Given the description of an element on the screen output the (x, y) to click on. 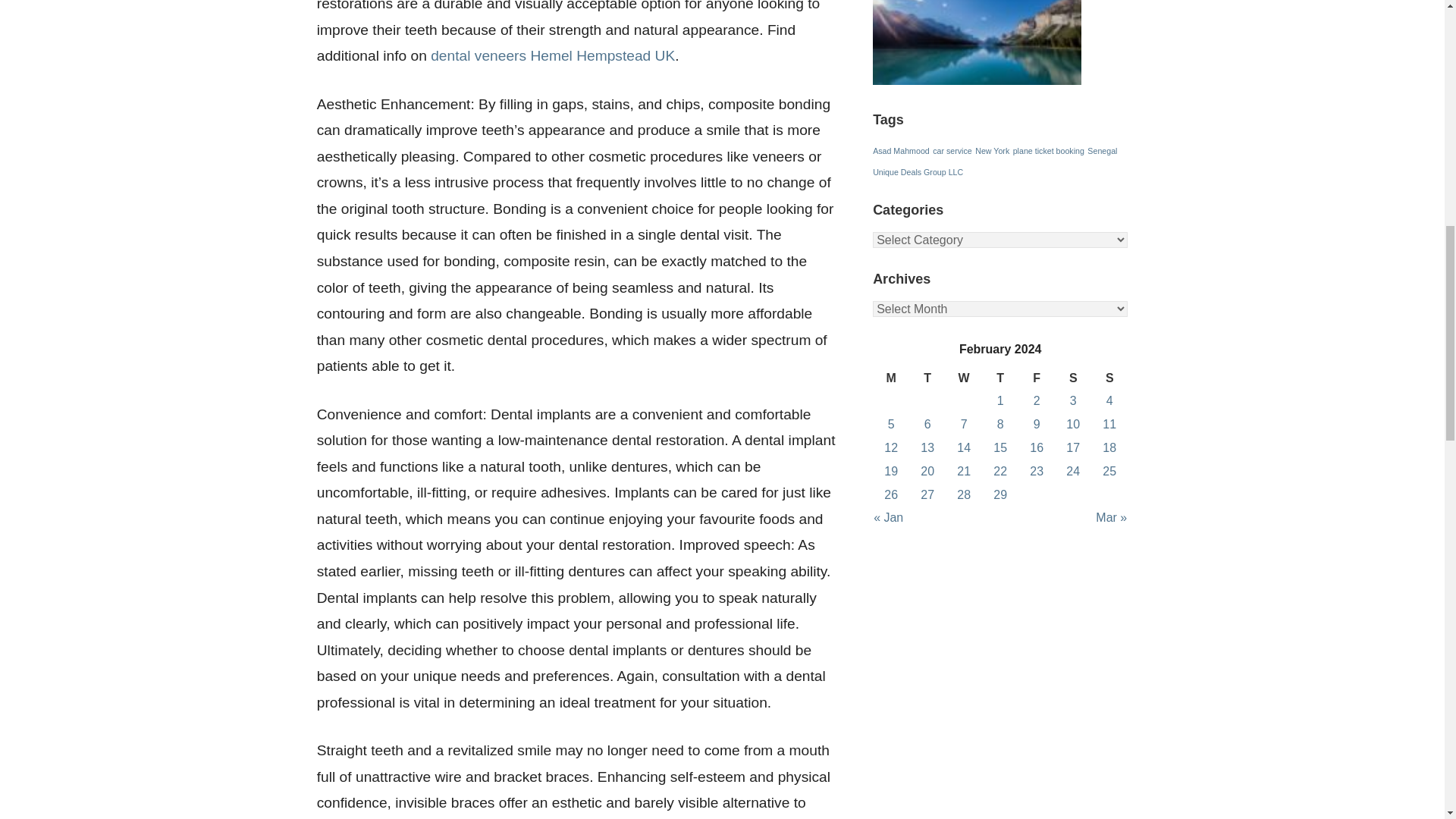
car service (952, 150)
Wednesday (962, 378)
10 (1072, 423)
Saturday (1072, 378)
Friday (1035, 378)
dental veneers Hemel Hempstead UK (552, 55)
Unique Deals Group LLC (917, 171)
Senegal (1101, 150)
Tuesday (926, 378)
plane ticket booking (1048, 150)
Thursday (999, 378)
New York (992, 150)
Asad Mahmood (901, 150)
Sunday (1108, 378)
Monday (890, 378)
